Given the description of an element on the screen output the (x, y) to click on. 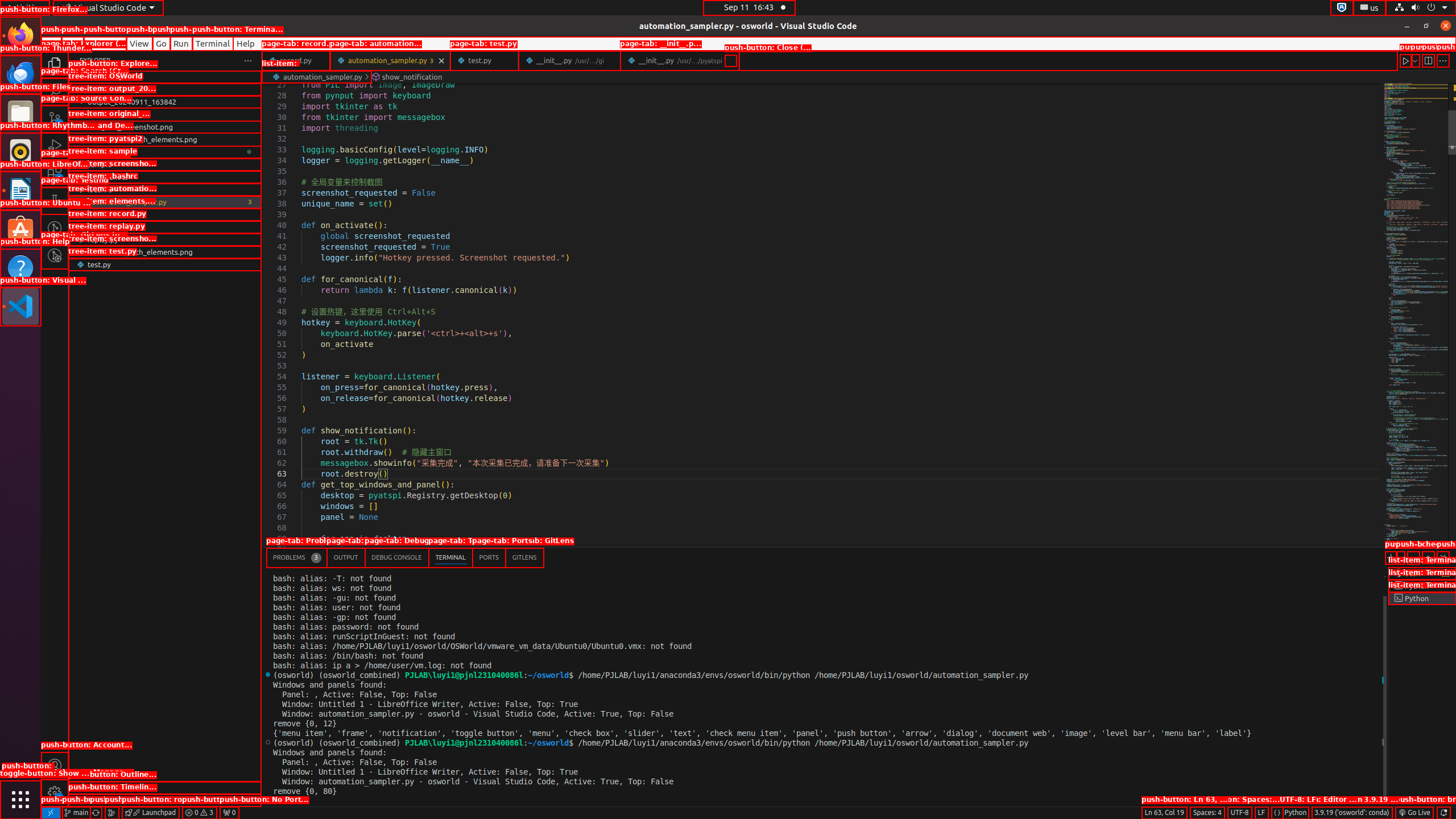
3.9.19 ('osworld': conda), ~/anaconda3/envs/osworld/bin/python Element type: push-button (1351, 812)
Python Element type: push-button (1295, 812)
Show the GitLens Commit Graph Element type: push-button (111, 812)
sample Element type: tree-item (164, 164)
